Given the description of an element on the screen output the (x, y) to click on. 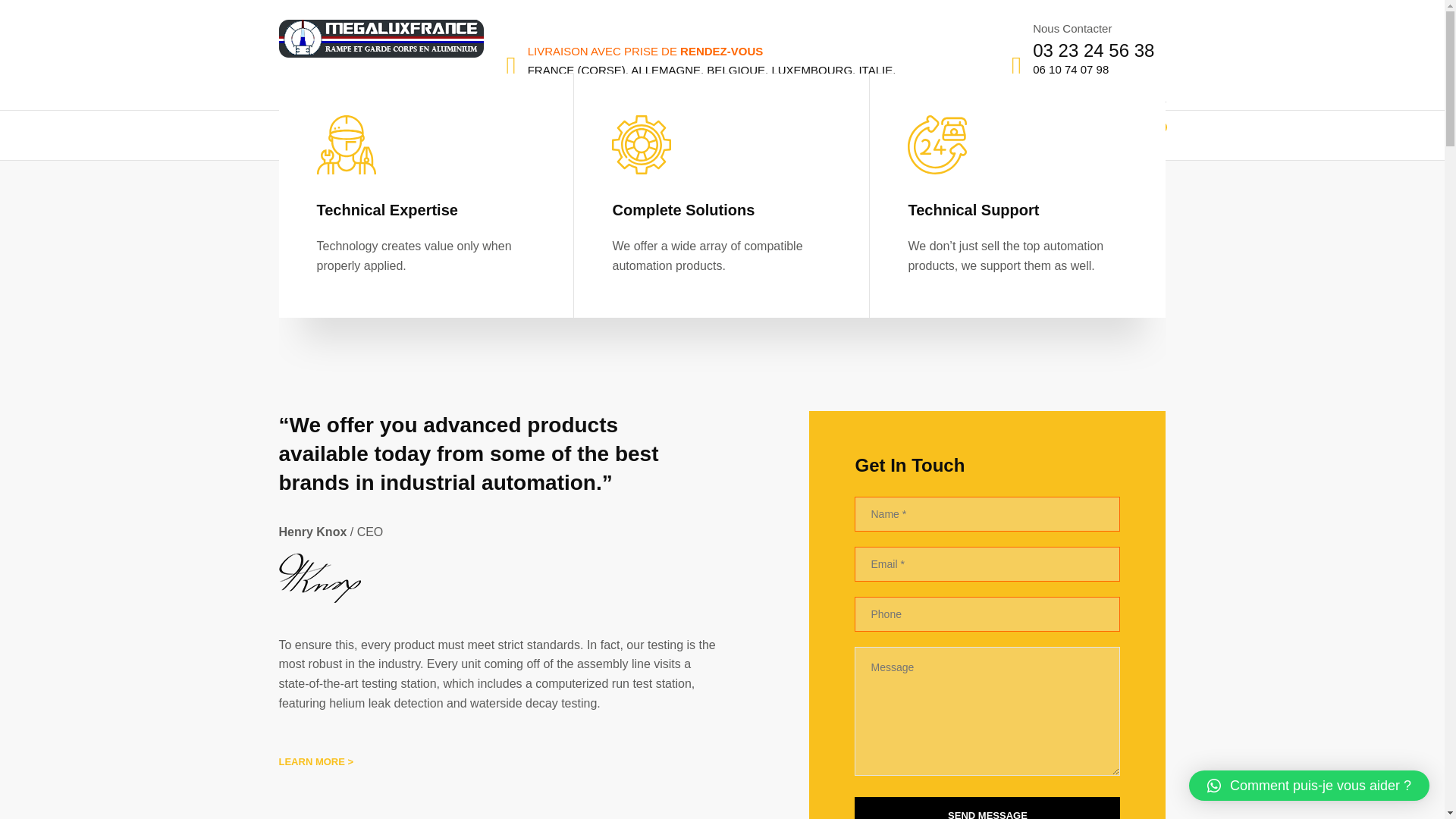
CONTACT (923, 135)
signature (320, 577)
06 10 74 07 98 (1070, 69)
Send Message (986, 807)
06 52 39 58 73 (1070, 80)
Send Message (986, 807)
Complete Solutions (721, 210)
GARDE-CORPS (333, 135)
box-shadow-icon-home-5 (722, 351)
Technical Expertise (426, 210)
